Given the description of an element on the screen output the (x, y) to click on. 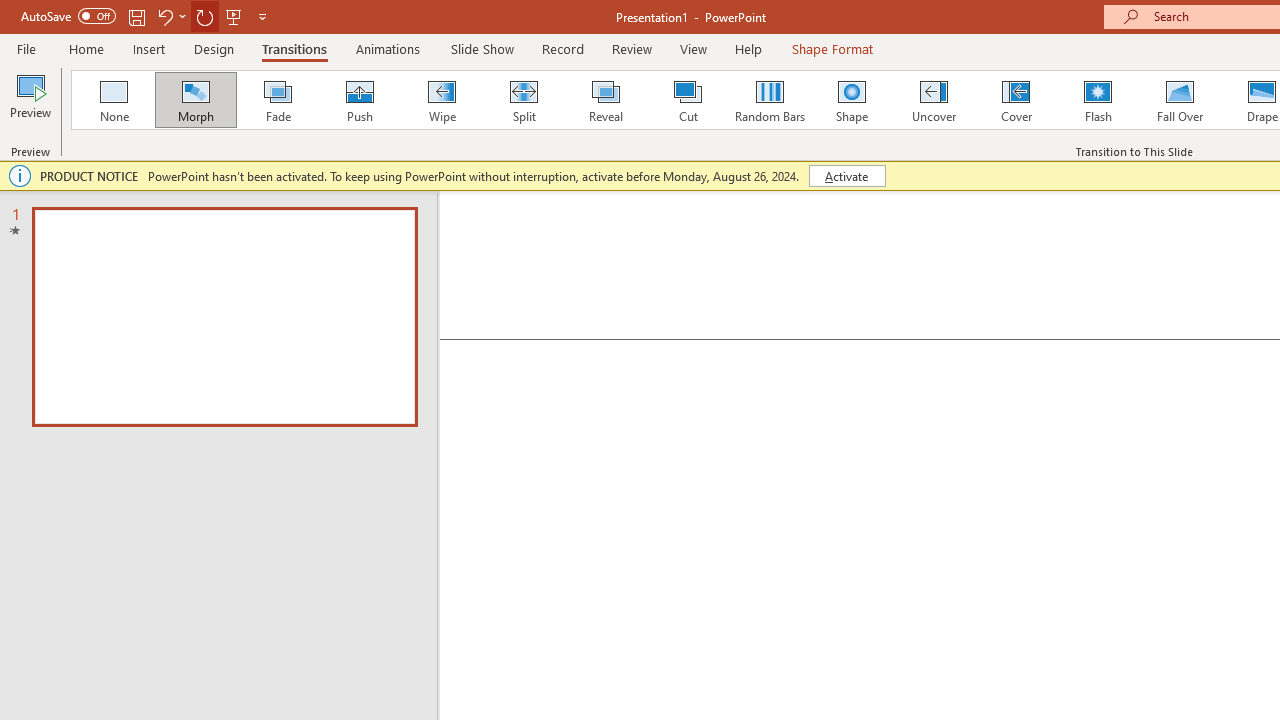
Push (359, 100)
Random Bars (770, 100)
Preview (30, 102)
Fade (277, 100)
